Given the description of an element on the screen output the (x, y) to click on. 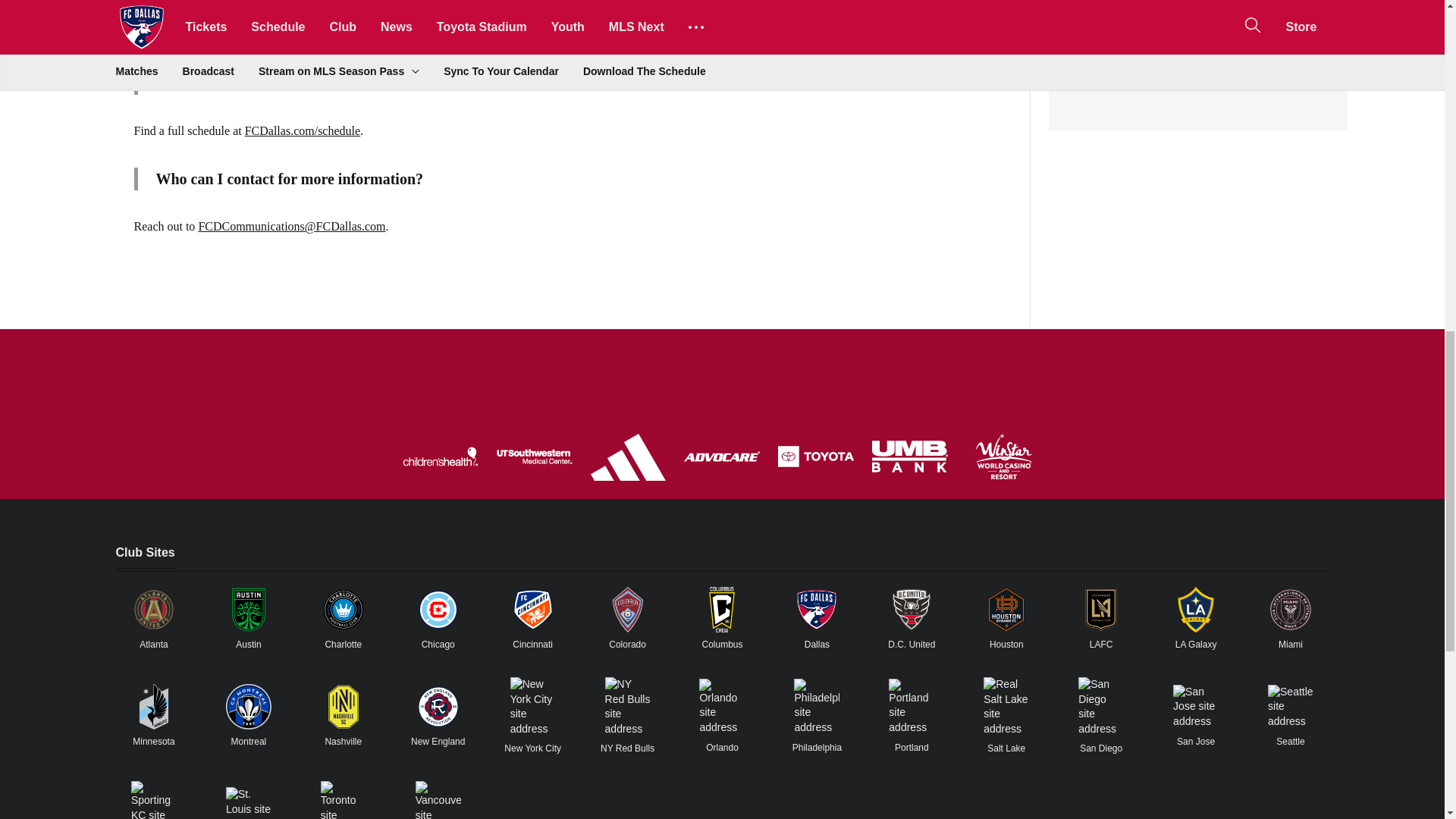
Link to Charlotte (343, 609)
Link to Colorado (627, 609)
Link to Dallas (816, 609)
Link to LAFC (1101, 609)
Link to Columbus (721, 609)
Link to Austin (247, 609)
Link to Chicago (437, 609)
Link to Atlanta (153, 609)
Link to Cincinnati (533, 609)
Link to D.C. United (911, 609)
